Given the description of an element on the screen output the (x, y) to click on. 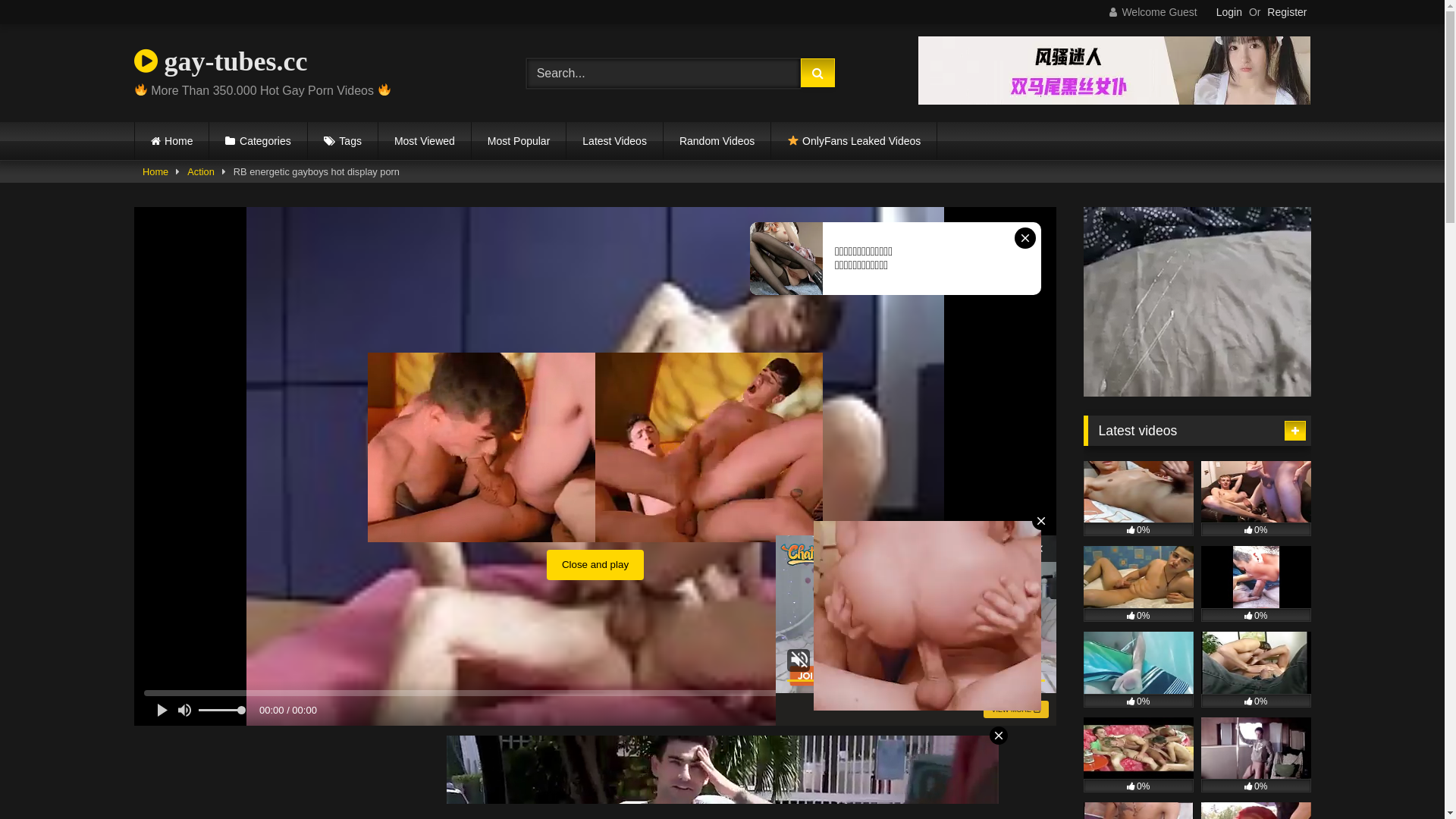
Most Popular Element type: text (518, 141)
0% Element type: text (1137, 583)
Most Viewed Element type: text (424, 141)
0% Element type: text (1256, 583)
0% Element type: text (1137, 498)
Tags Element type: text (342, 141)
Latest Videos Element type: text (614, 141)
Random Videos Element type: text (716, 141)
Home Element type: text (155, 171)
0% Element type: text (1256, 755)
OnlyFans Leaked Videos Element type: text (853, 141)
Home Element type: text (171, 141)
0% Element type: text (1256, 669)
0% Element type: text (1256, 498)
gay-tubes.cc Element type: text (220, 60)
Register Element type: text (1286, 12)
0% Element type: text (1137, 755)
Action Element type: text (200, 171)
0% Element type: text (1137, 669)
Login Element type: text (1229, 12)
Categories Element type: text (257, 141)
